Given the description of an element on the screen output the (x, y) to click on. 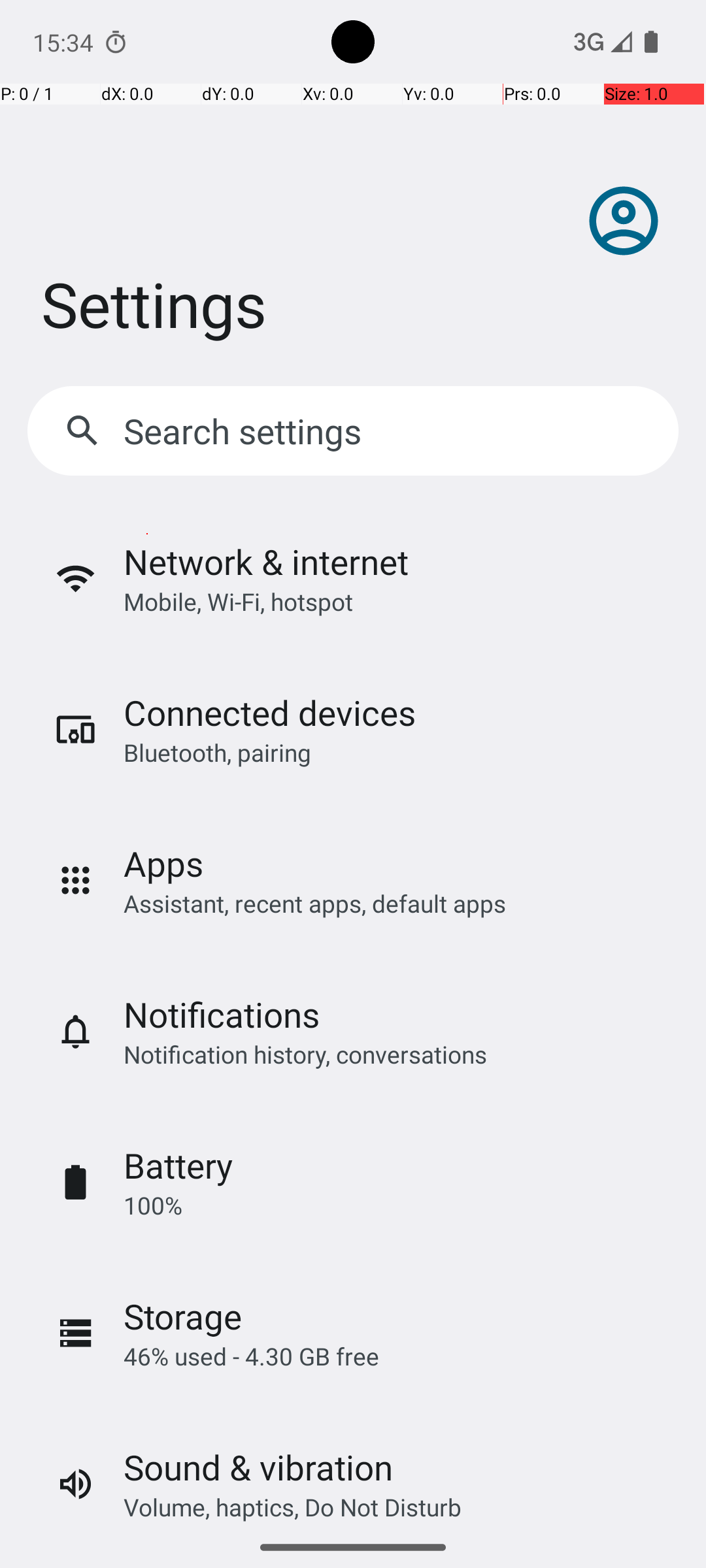
46% used - 4.30 GB free Element type: android.widget.TextView (251, 1355)
